Given the description of an element on the screen output the (x, y) to click on. 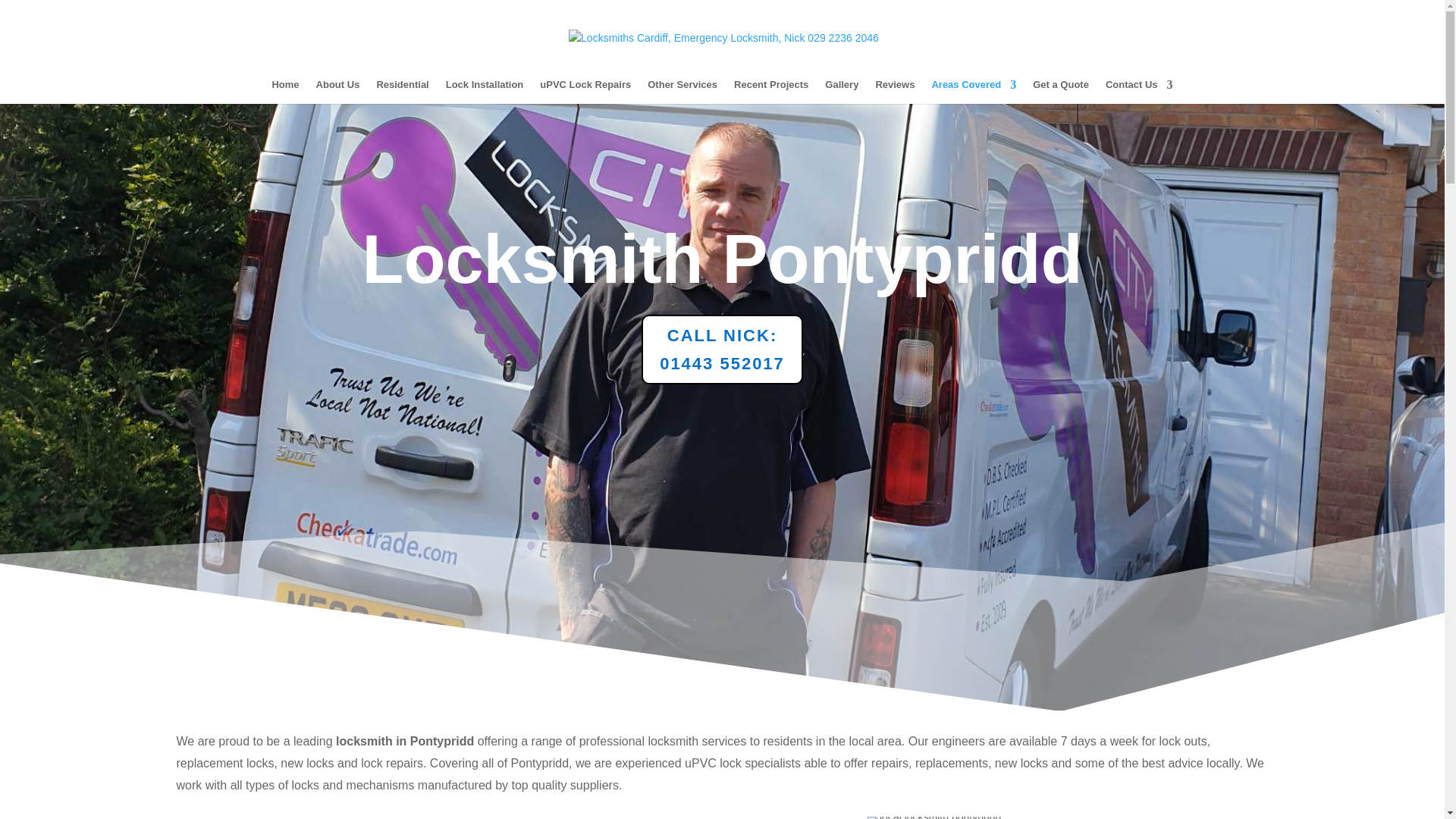
uPVC Lock Repairs (585, 91)
Contact Us (1139, 91)
Gallery (842, 91)
Areas Covered (973, 91)
Home (284, 91)
Residential (401, 91)
About Us (337, 91)
Get a Quote (1060, 91)
Other Services (682, 91)
Reviews (894, 91)
Lock Installation (484, 91)
local locksmith pontypridd (722, 349)
Recent Projects (934, 817)
